Given the description of an element on the screen output the (x, y) to click on. 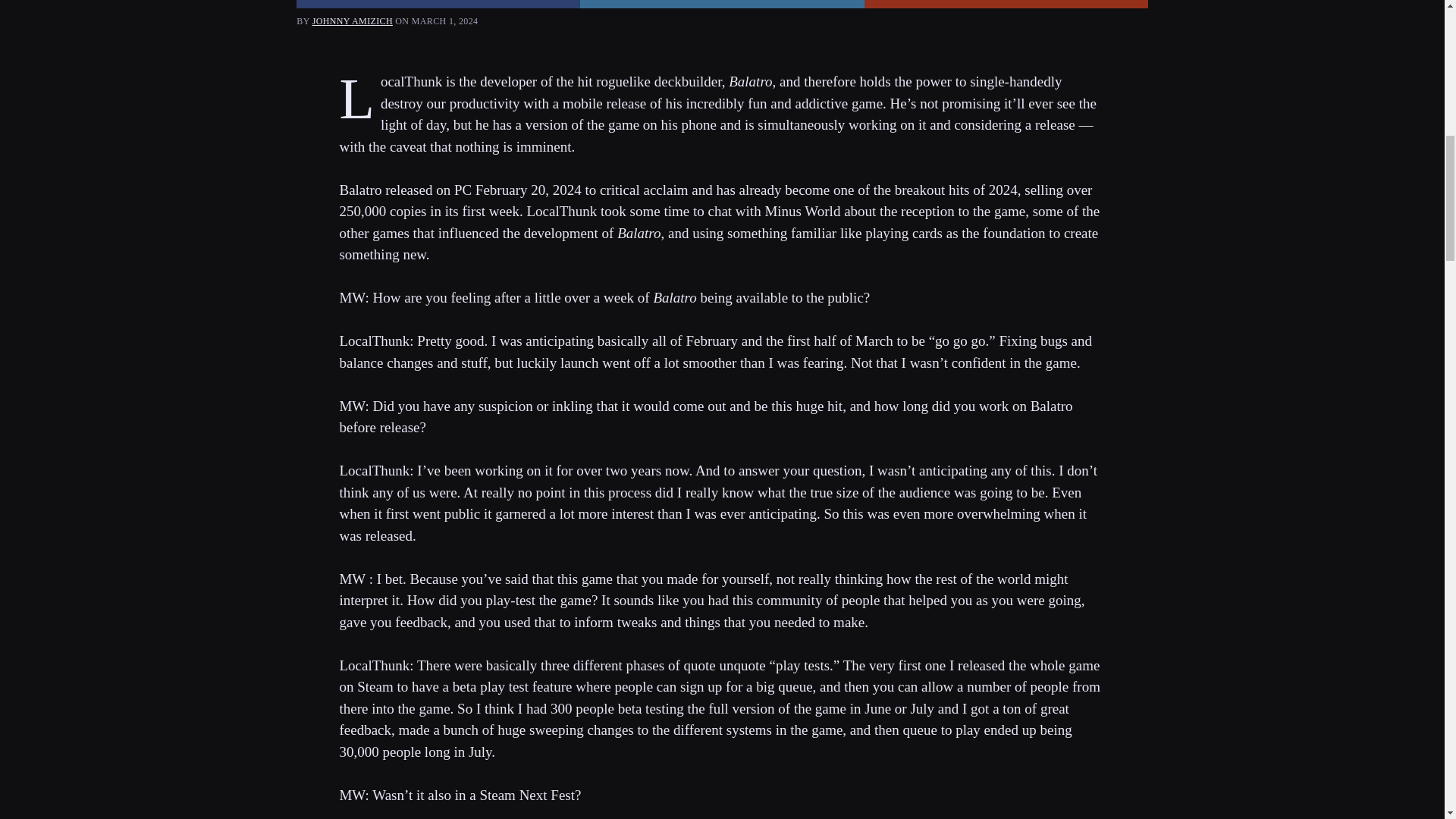
Posts by Johnny Amizich (353, 20)
Facebook (438, 4)
Twitter (721, 4)
JOHNNY AMIZICH (353, 20)
Reddit (1006, 4)
